Given the description of an element on the screen output the (x, y) to click on. 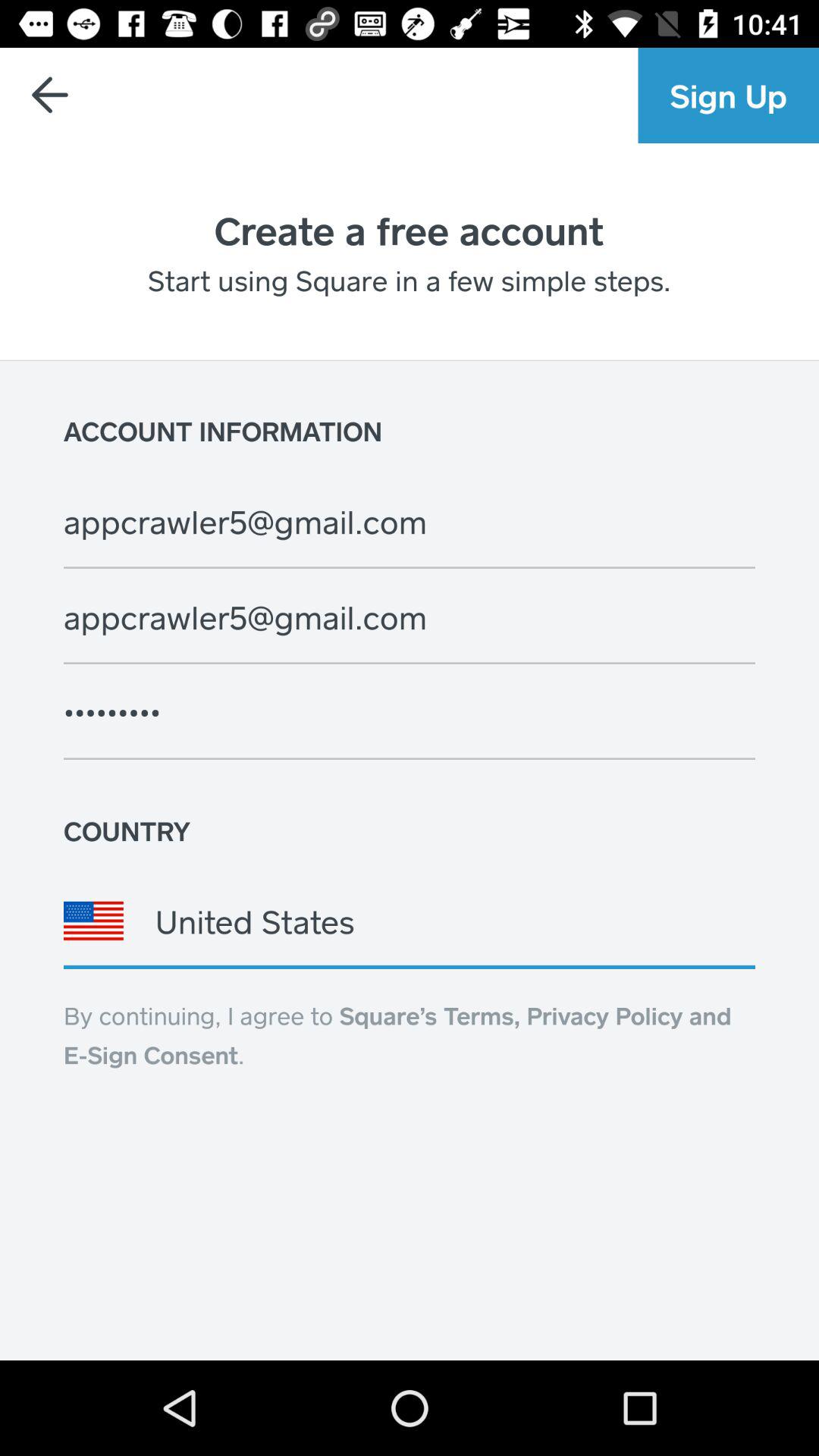
click crowd3116 (409, 712)
